Given the description of an element on the screen output the (x, y) to click on. 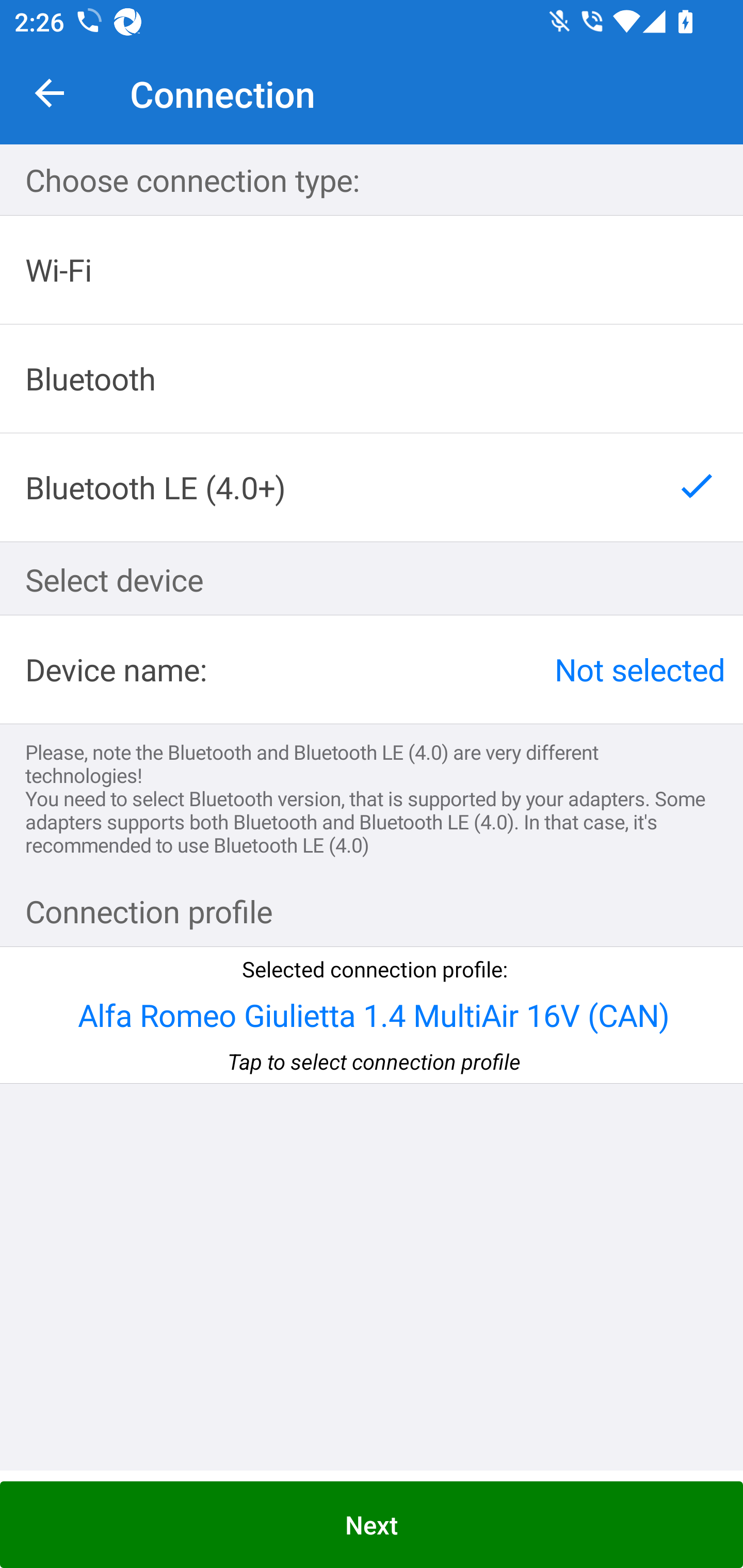
Wi-Fi (371, 270)
Bluetooth (371, 378)
Bluetooth LE (4.0+) (371, 486)
Device name: Not selected (371, 669)
Next (371, 1524)
